Given the description of an element on the screen output the (x, y) to click on. 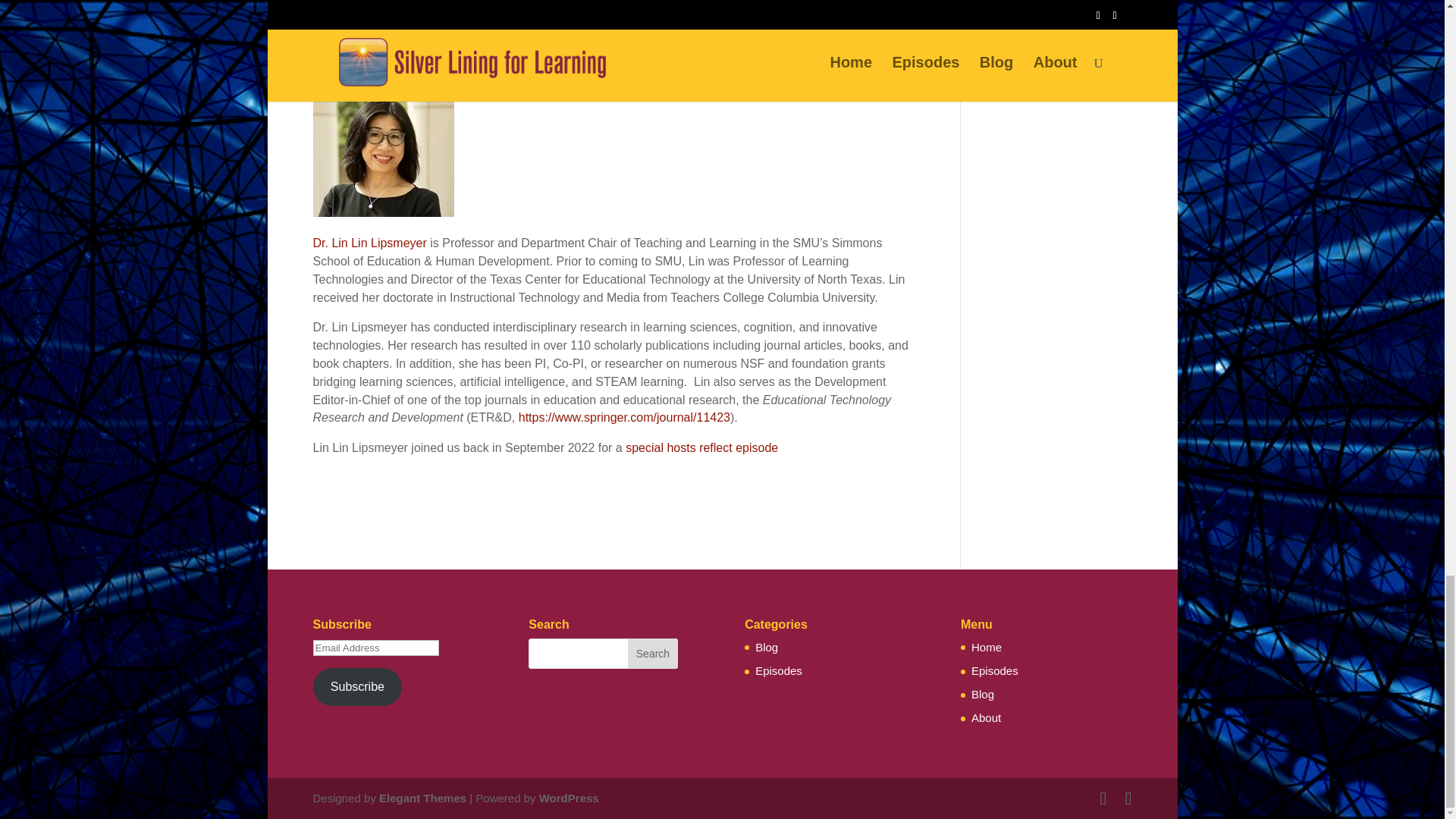
Subscribe (357, 686)
Episodes (994, 670)
WordPress (568, 797)
Search (652, 653)
Home (986, 646)
About (986, 717)
special hosts reflect episode (700, 447)
Episodes (778, 670)
Blog (766, 646)
Blog (982, 694)
